Given the description of an element on the screen output the (x, y) to click on. 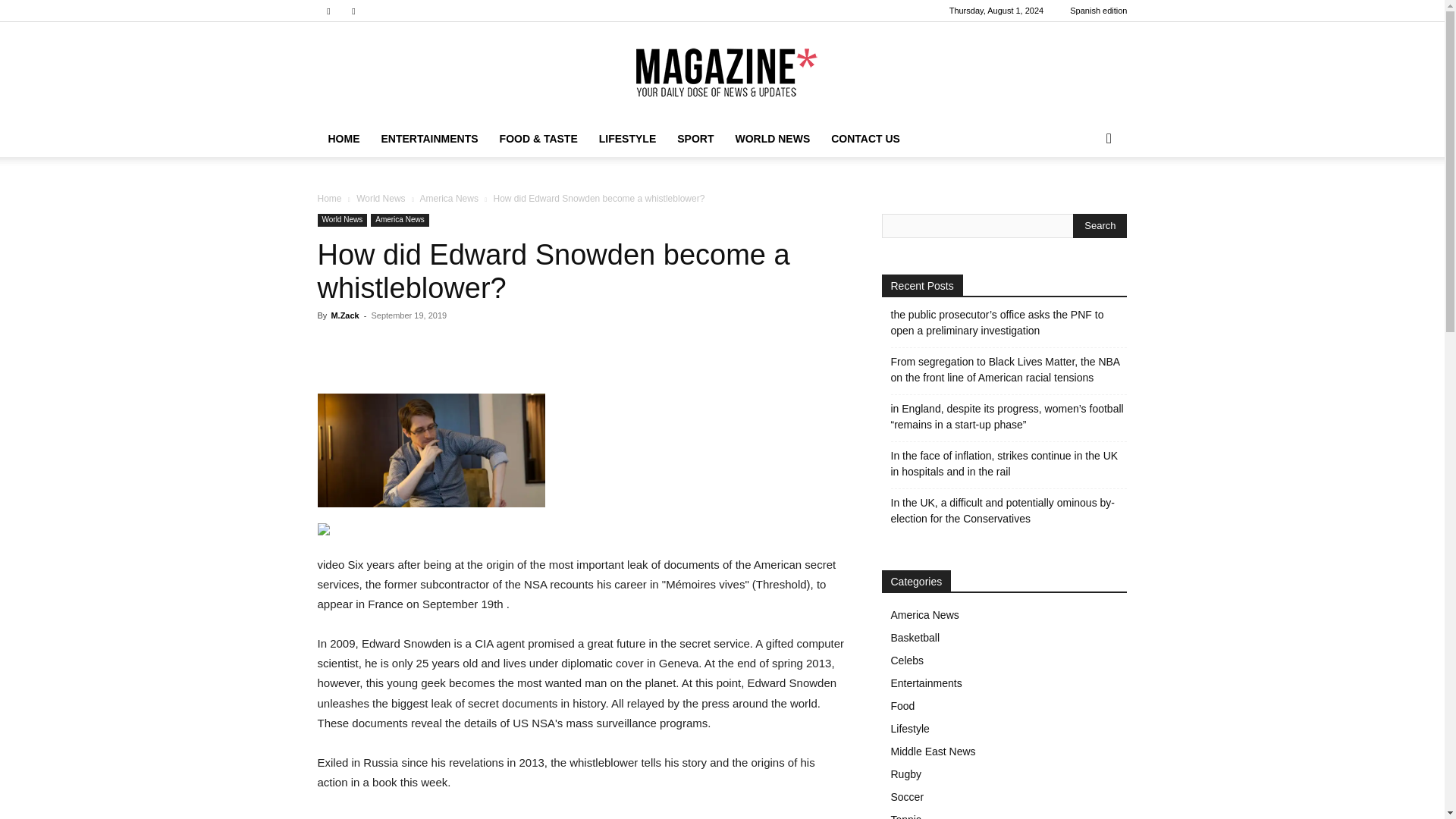
WORLD NEWS (772, 138)
Search (1099, 225)
View all posts in America News (449, 198)
Spanish edition (1098, 10)
SPORT (694, 138)
Facebook (328, 10)
View all posts in World News (380, 198)
LIFESTYLE (627, 138)
HOME (343, 138)
ENTERTAINMENTS (428, 138)
Pinterest (353, 10)
